Given the description of an element on the screen output the (x, y) to click on. 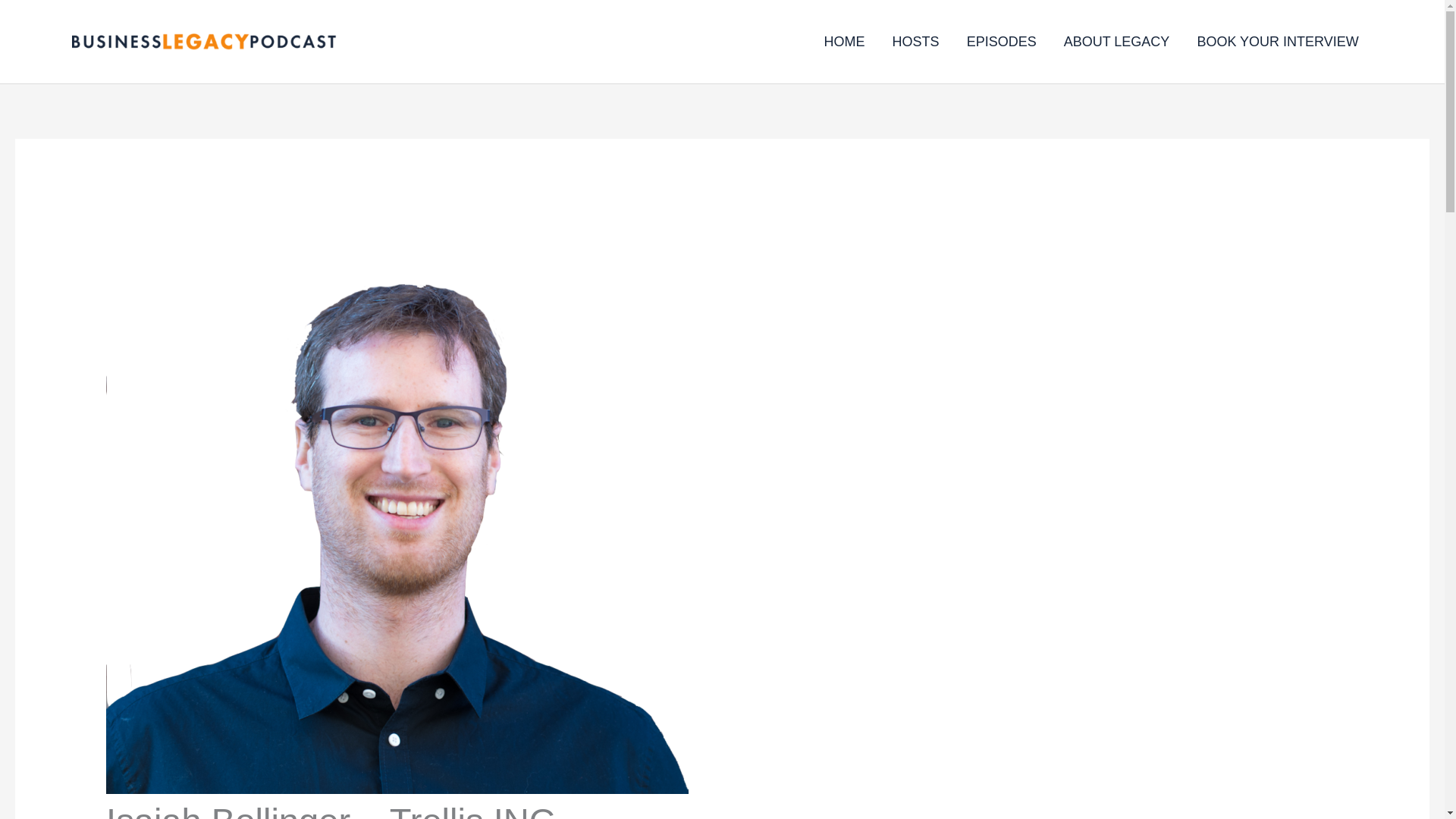
ABOUT LEGACY (1116, 41)
BOOK YOUR INTERVIEW (1276, 41)
HOME (844, 41)
EPISODES (1001, 41)
HOSTS (916, 41)
